Given the description of an element on the screen output the (x, y) to click on. 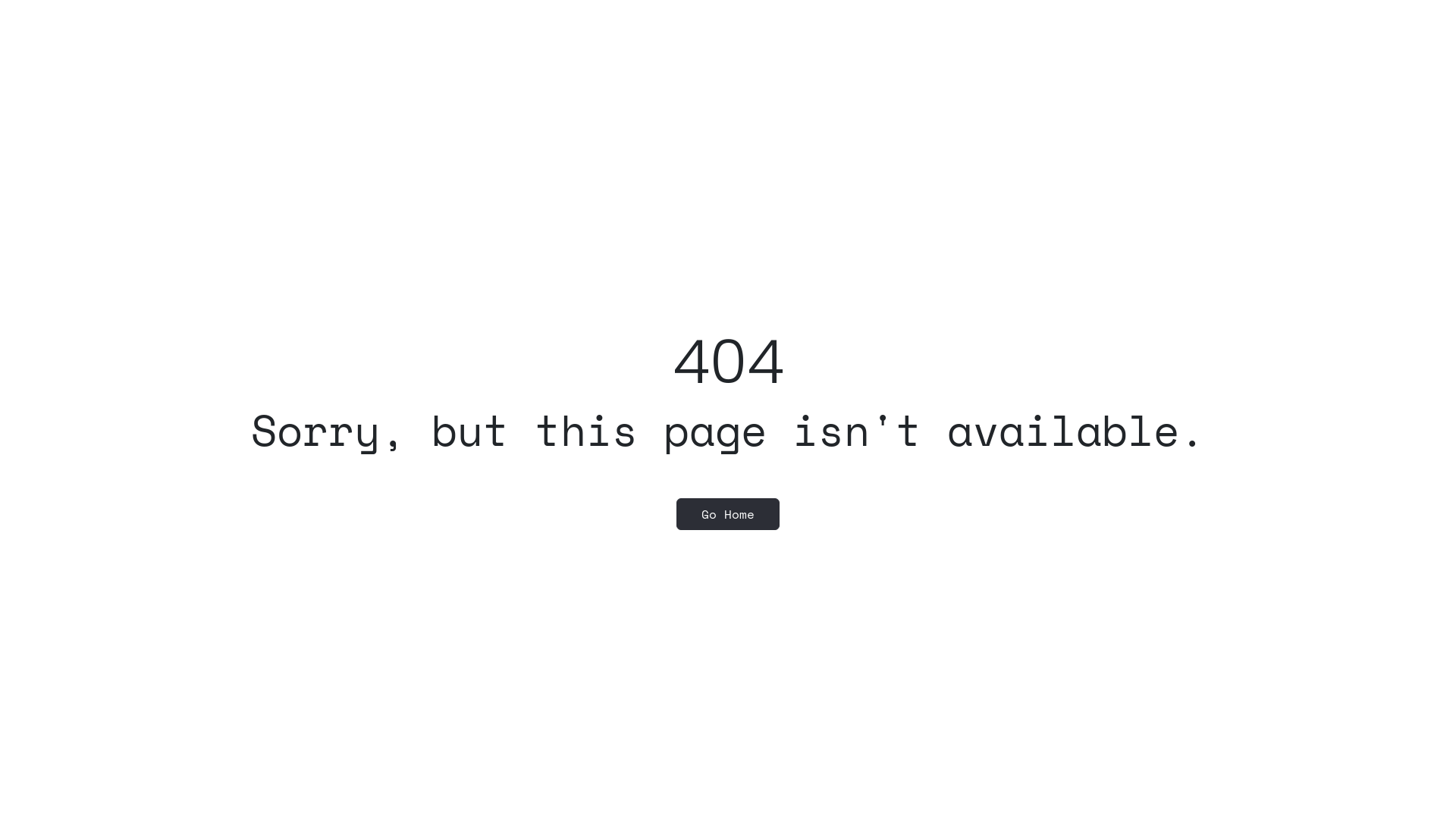
Go Home Element type: text (727, 514)
